Given the description of an element on the screen output the (x, y) to click on. 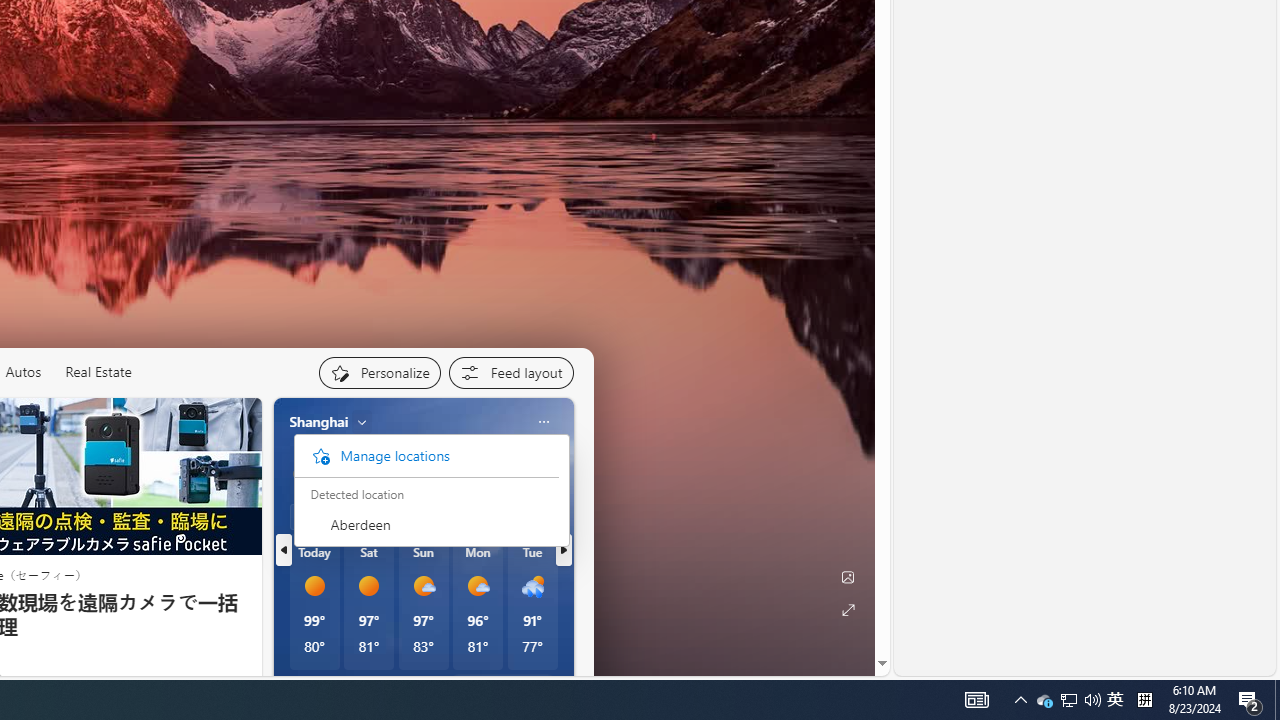
Sunny (369, 585)
Mostly sunny (477, 585)
My location (362, 421)
Class: icon-img (543, 421)
Expand background (847, 610)
See full forecast (502, 685)
Class: weather-arrow-glyph (554, 474)
Mostly sunny (311, 474)
Autos (22, 371)
Real Estate (97, 372)
